Given the description of an element on the screen output the (x, y) to click on. 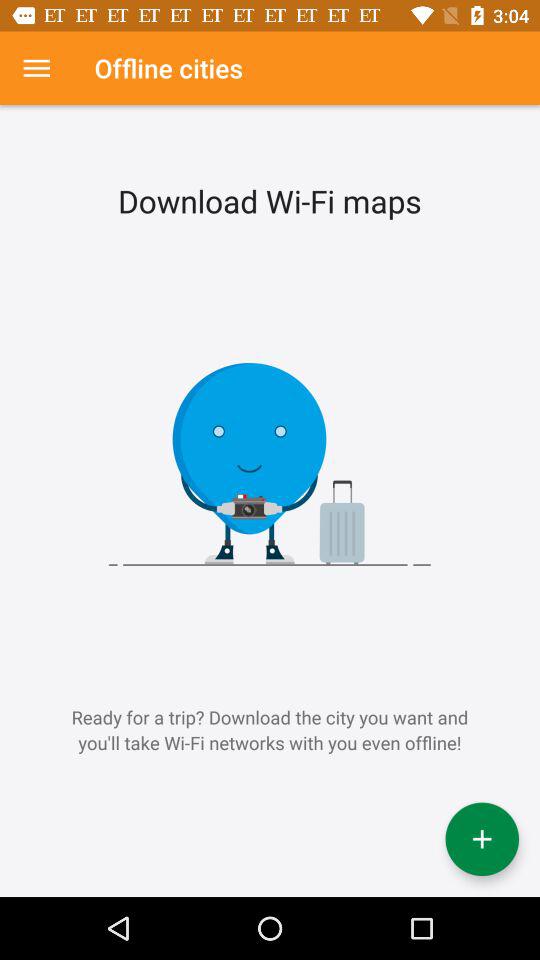
settings option (36, 68)
